Given the description of an element on the screen output the (x, y) to click on. 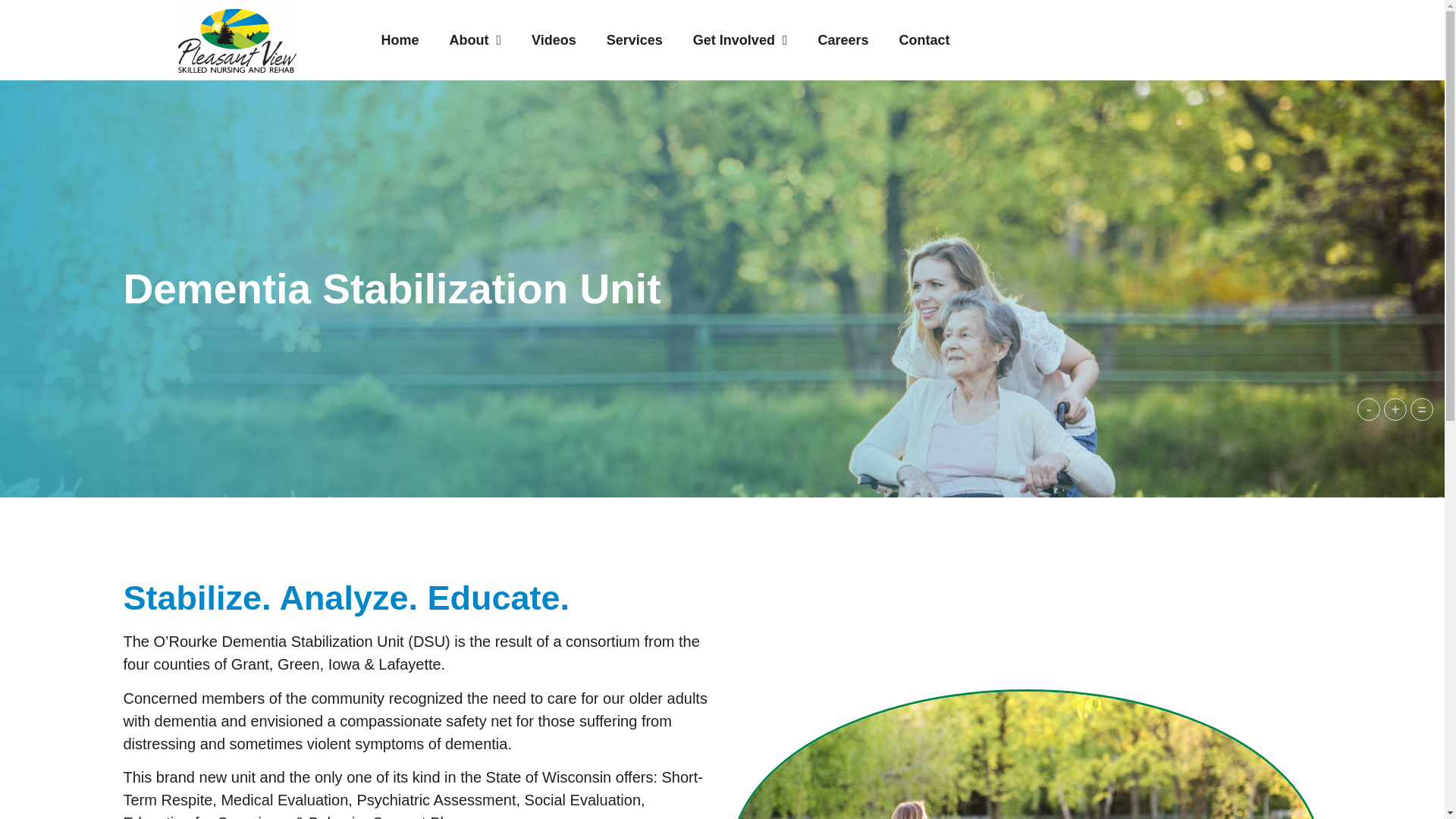
Increase text size (1395, 409)
Decrease text size (1368, 409)
Home (399, 39)
Services (634, 39)
Get Involved (740, 39)
Videos (553, 39)
Careers (842, 39)
Contact (924, 39)
About (474, 39)
Reset text size (1421, 409)
